Given the description of an element on the screen output the (x, y) to click on. 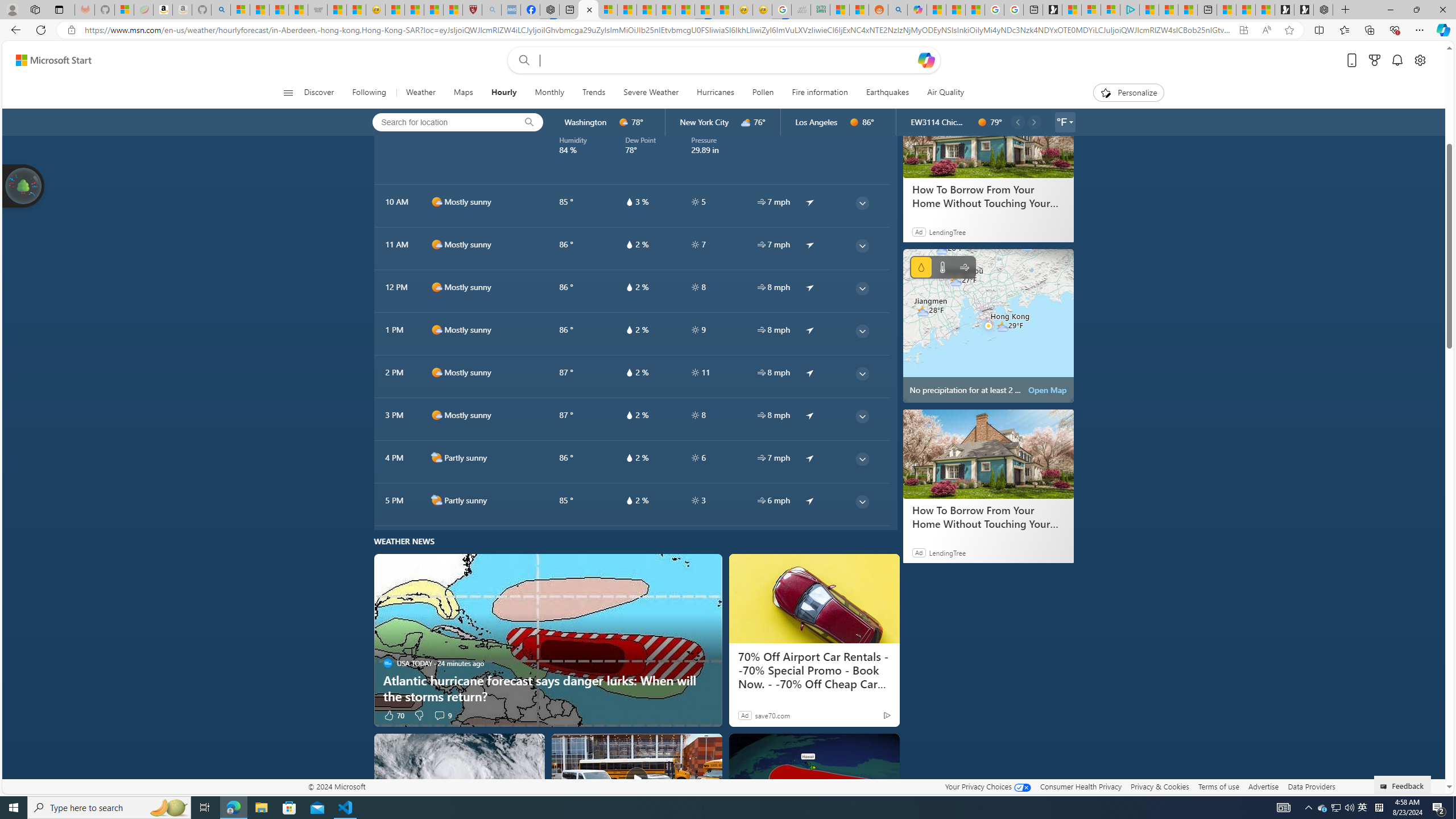
App available. Install Microsoft Start Weather (1243, 29)
Precipitation (920, 267)
Your Privacy Choices (987, 786)
Hurricanes (715, 92)
common/carouselChevron (1034, 121)
hourlyTable/wind (761, 500)
locationBar/search (529, 121)
